Given the description of an element on the screen output the (x, y) to click on. 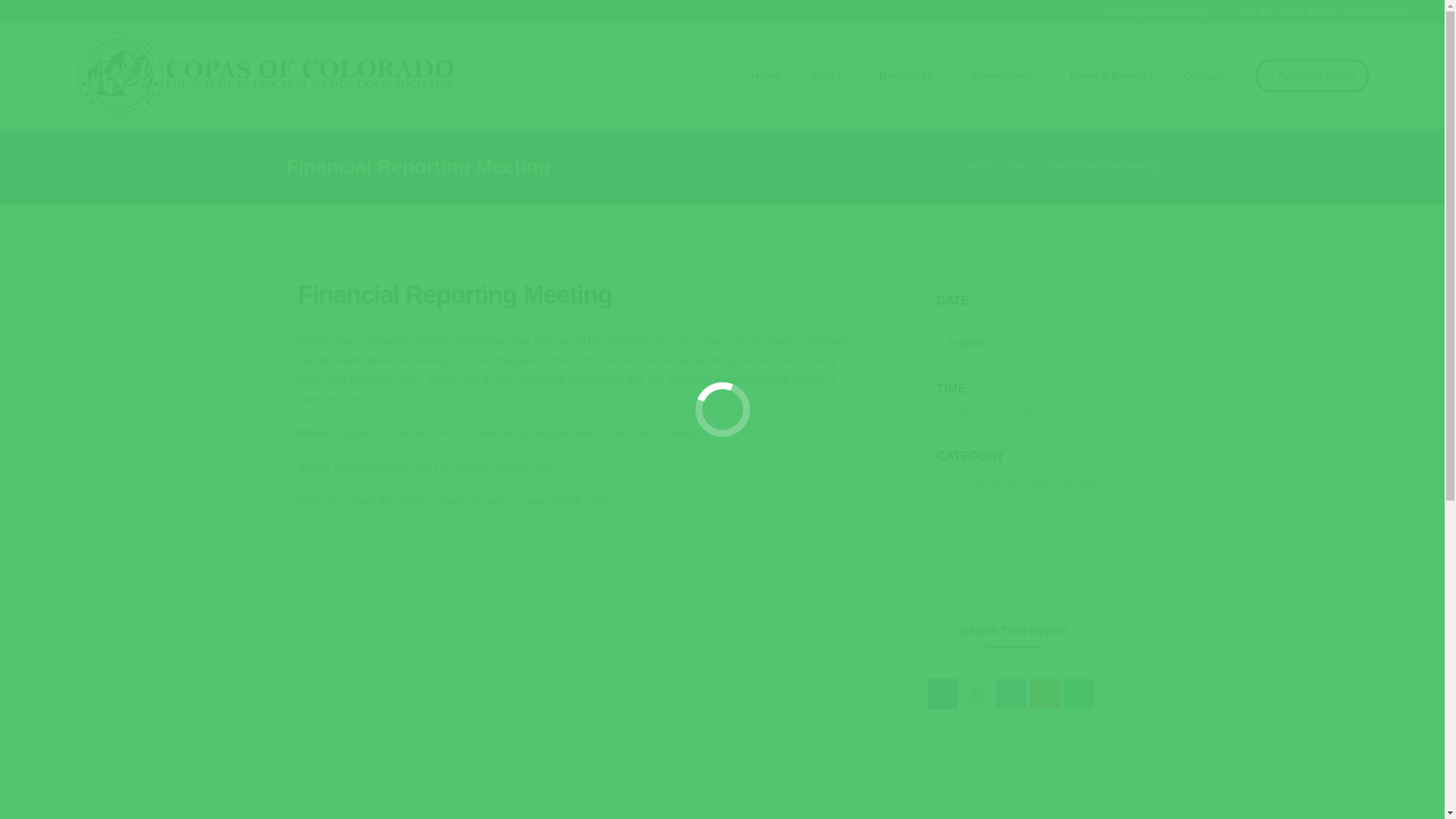
Resources (910, 75)
Contact (1203, 75)
Share on WhatsApp (1079, 693)
Committees (1005, 75)
Share on Facebook (942, 693)
Share on Reddit (1044, 693)
About (829, 75)
Linkedin (1010, 693)
Event (1017, 166)
Home (765, 75)
X Social Network (975, 693)
Home (978, 166)
